Given the description of an element on the screen output the (x, y) to click on. 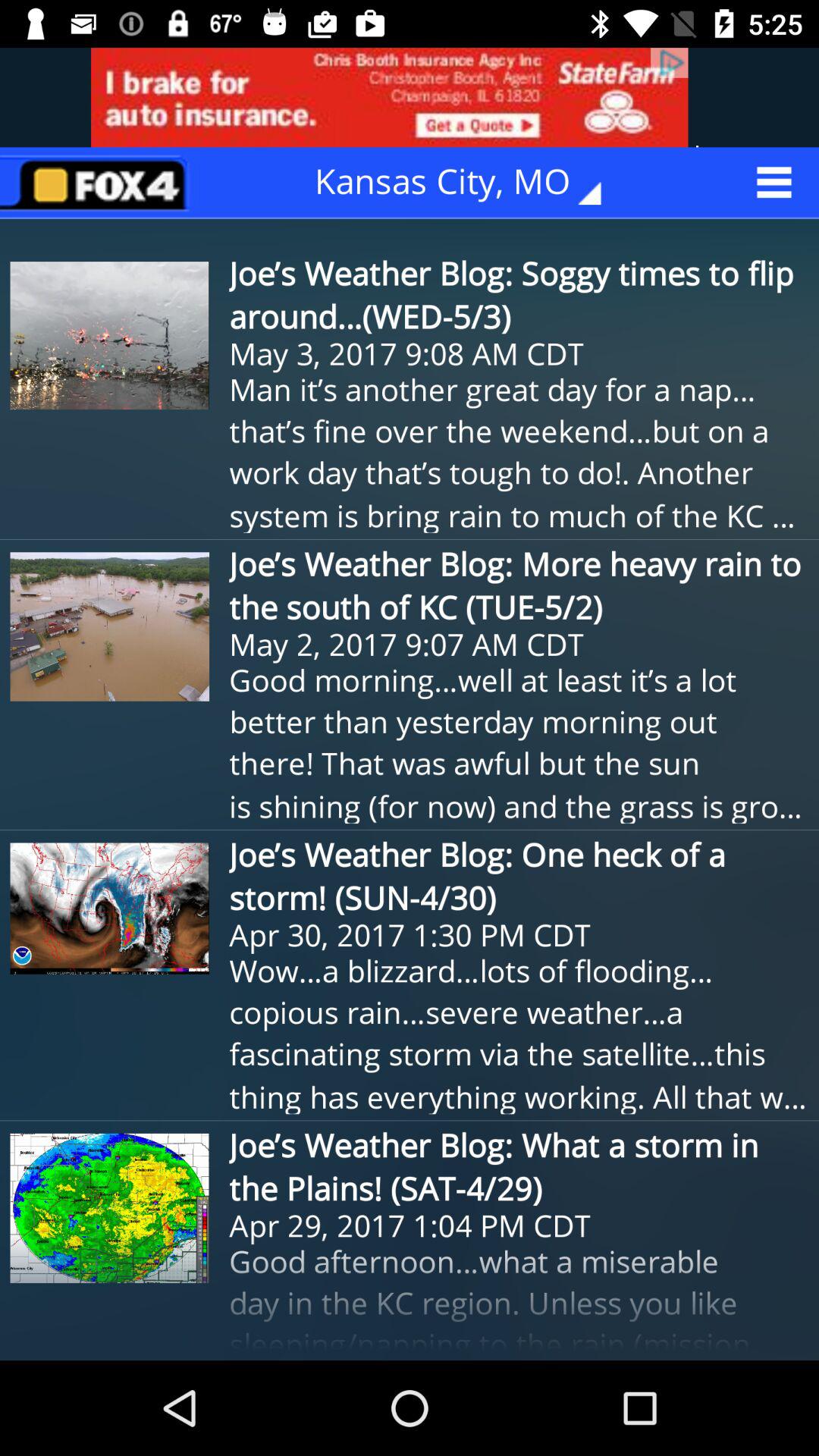
select the kansas city, mo item (468, 182)
